Given the description of an element on the screen output the (x, y) to click on. 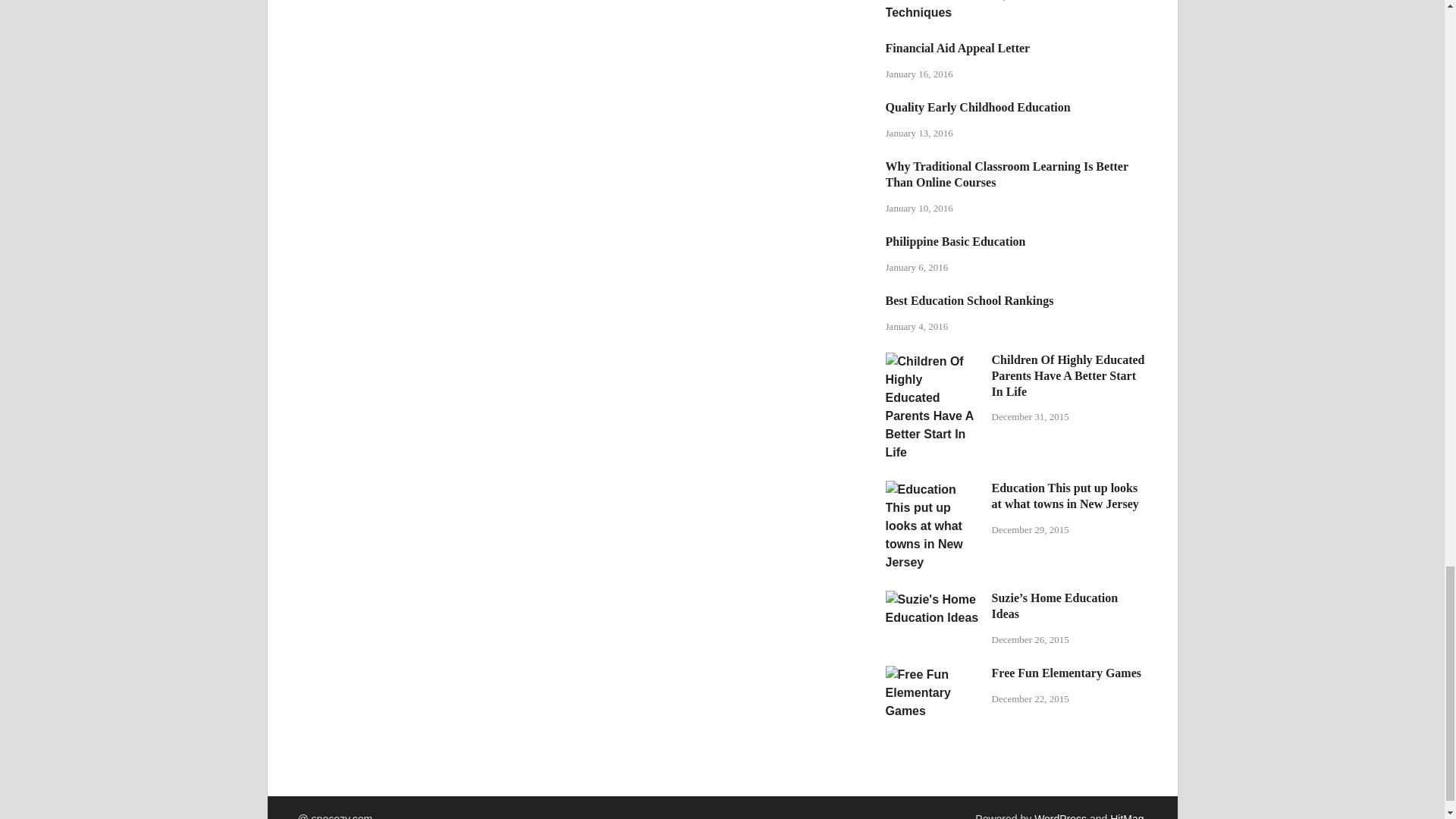
Free Fun Elementary Games (932, 674)
Education This put up looks at what towns in New Jersey (932, 489)
